Given the description of an element on the screen output the (x, y) to click on. 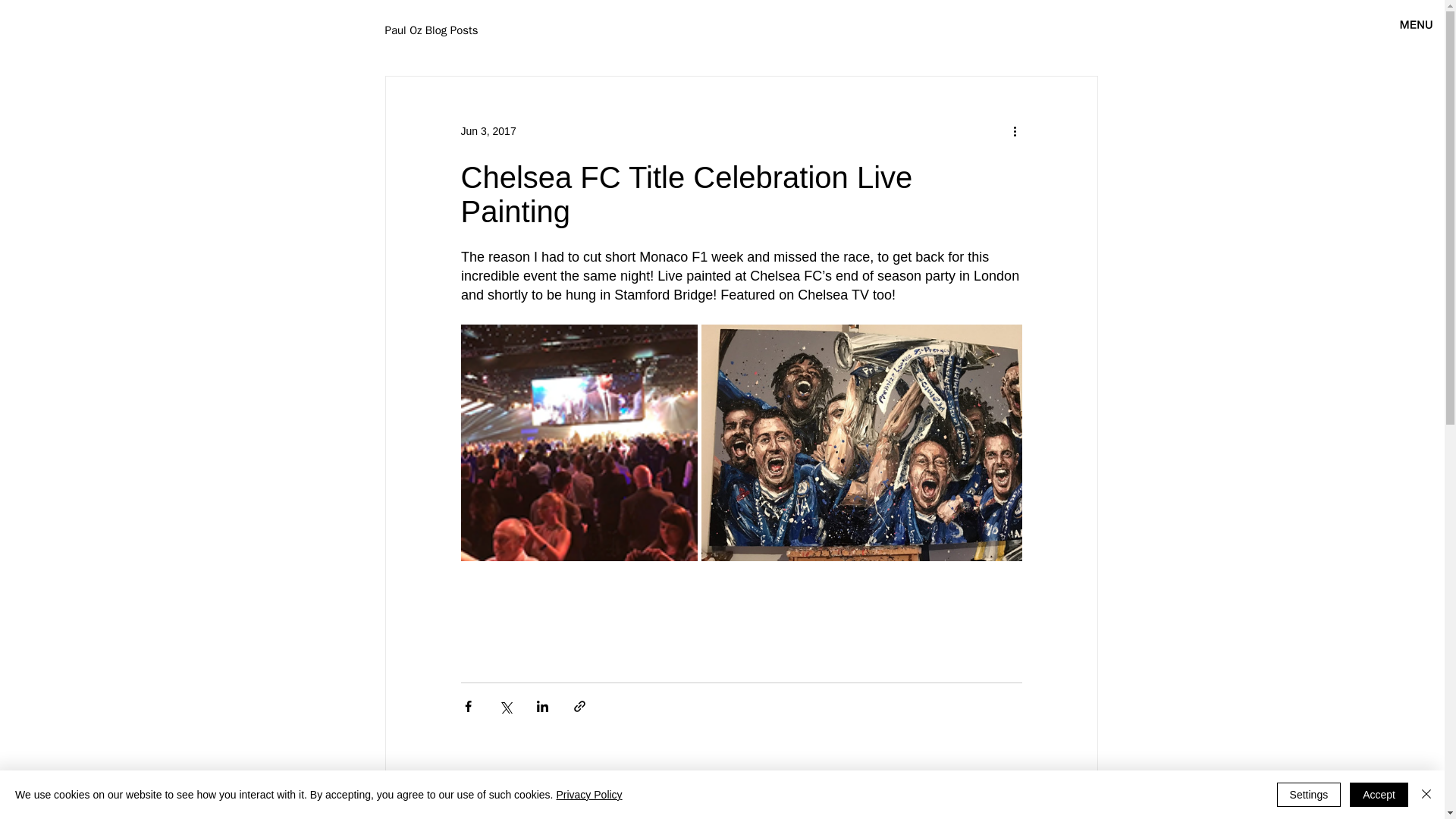
See All (1080, 803)
Jun 3, 2017 (488, 130)
Privacy Policy (588, 794)
Settings (1308, 794)
Accept (1378, 794)
Paul Oz Blog Posts (432, 29)
